Given the description of an element on the screen output the (x, y) to click on. 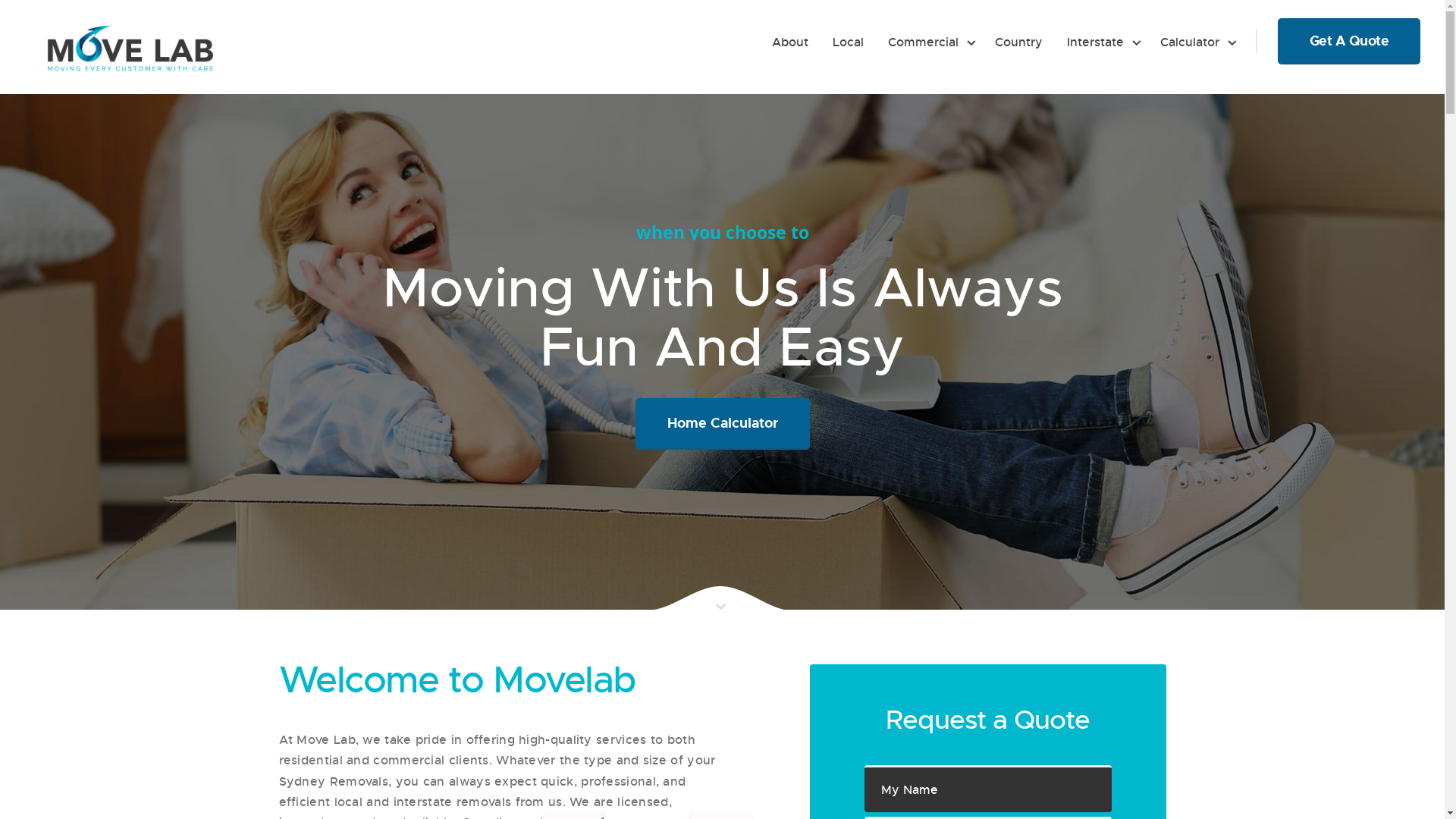
Get A Quote Element type: text (1348, 41)
Country Element type: text (1018, 42)
Local Element type: text (847, 42)
Commercial Element type: text (928, 42)
Interstate Element type: text (1101, 42)
Home Calculator Element type: text (722, 423)
About Element type: text (789, 42)
Calculator Element type: text (1195, 42)
